Given the description of an element on the screen output the (x, y) to click on. 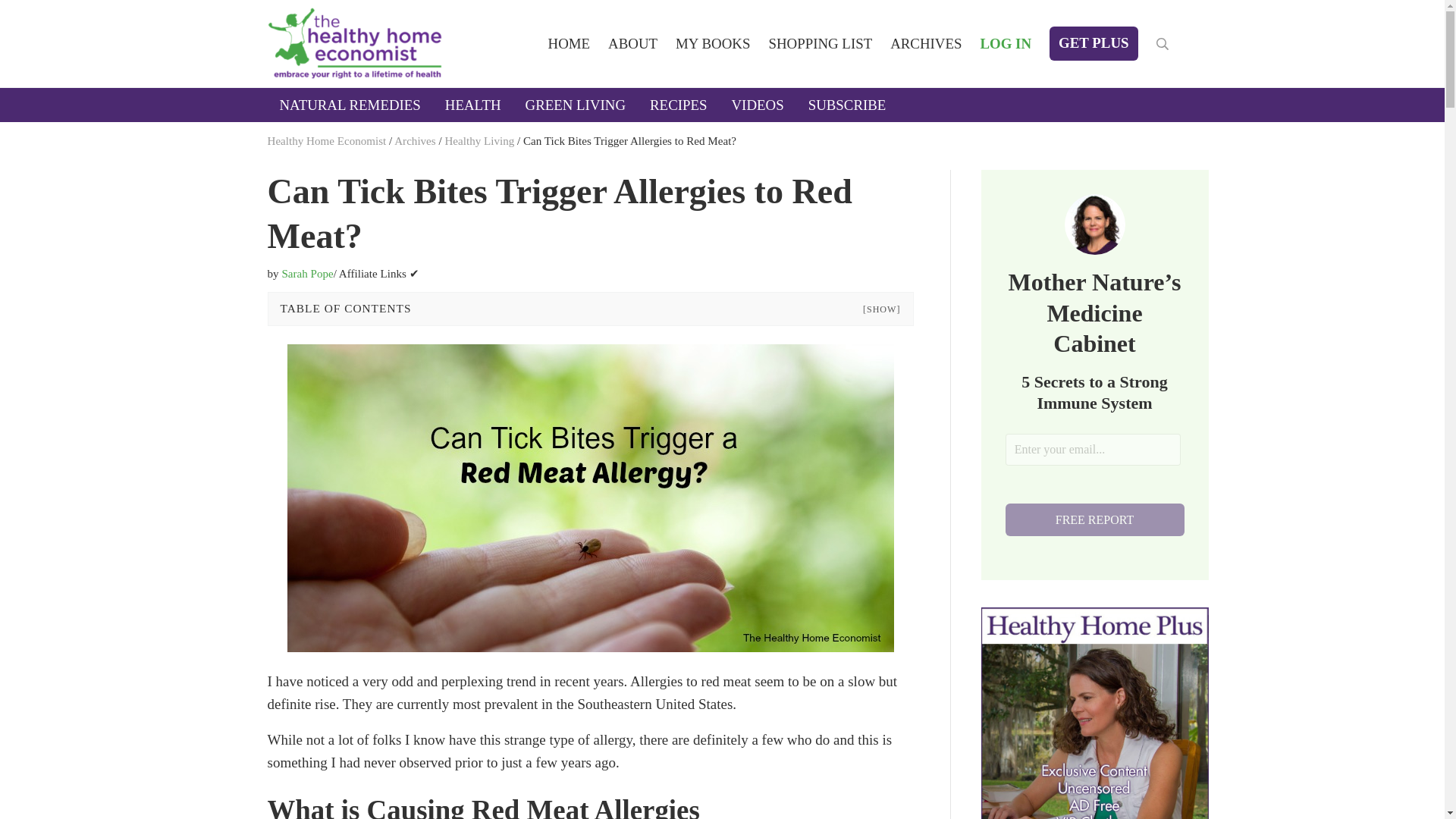
SHOPPING LIST (819, 43)
VIDEOS (756, 104)
ABOUT (632, 43)
GREEN LIVING (576, 104)
RECIPES (678, 104)
MY BOOKS (712, 43)
HEALTH (472, 104)
SEARCH (1161, 43)
SUBSCRIBE (847, 104)
NATURAL REMEDIES (349, 104)
HOME (568, 43)
GET PLUS (1093, 43)
LOG IN (1006, 43)
ARCHIVES (925, 43)
